Given the description of an element on the screen output the (x, y) to click on. 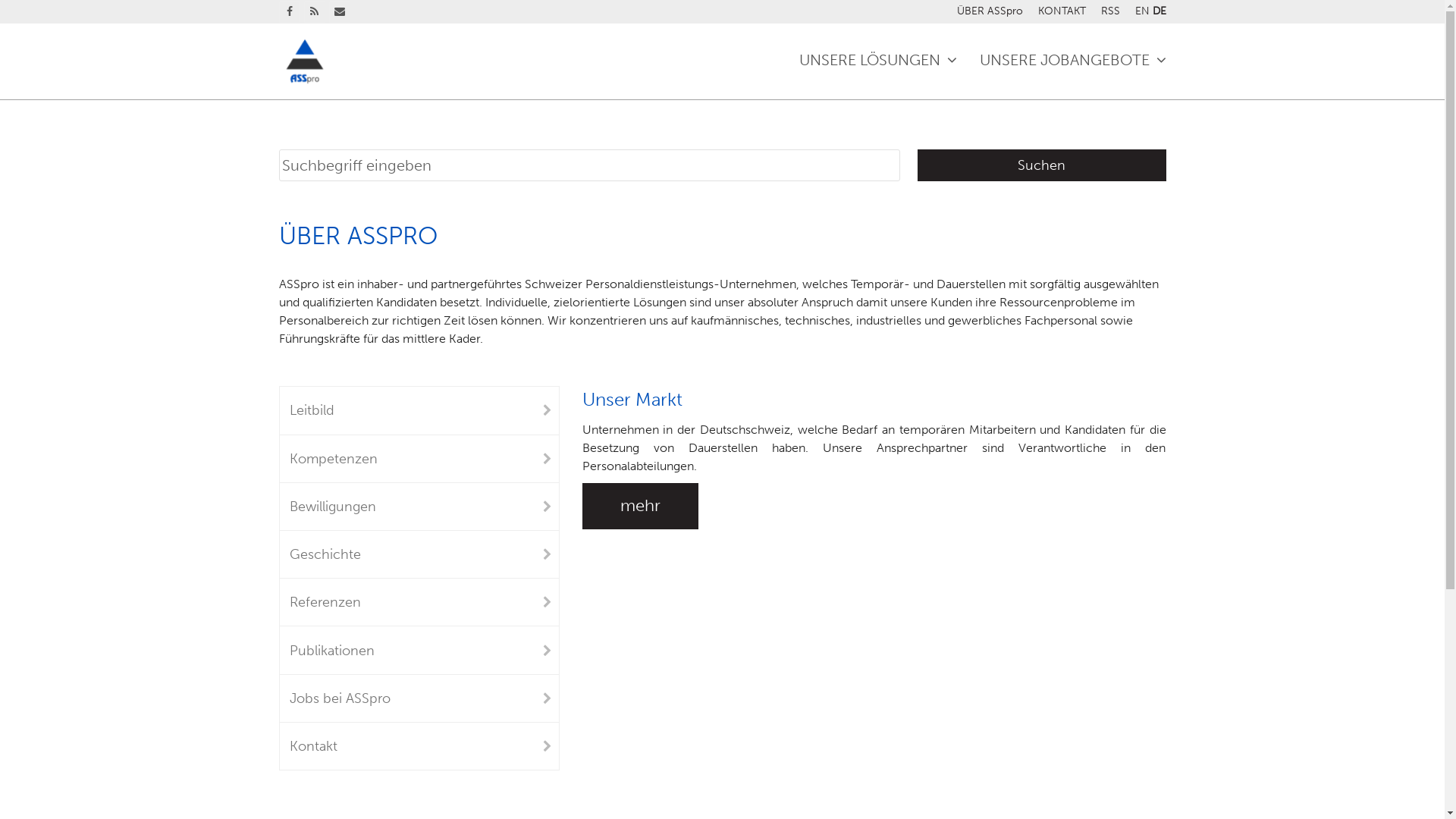
DE Element type: text (1159, 10)
Email Element type: text (339, 11)
Suchen Element type: text (1041, 165)
RSS Element type: text (313, 11)
Leitbild Element type: text (418, 409)
Kontakt Element type: text (418, 745)
mehr Element type: text (640, 505)
UNSERE JOBANGEBOTE Element type: text (1071, 61)
RSS Element type: text (1110, 10)
Geschichte Element type: text (418, 553)
Bewilligungen Element type: text (418, 506)
KONTAKT Element type: text (1061, 10)
Facebook Element type: text (289, 11)
Jobs bei ASSpro Element type: text (418, 697)
Publikationen Element type: text (418, 649)
Referenzen Element type: text (418, 601)
Kompetenzen Element type: text (418, 458)
EN Element type: text (1141, 10)
